Given the description of an element on the screen output the (x, y) to click on. 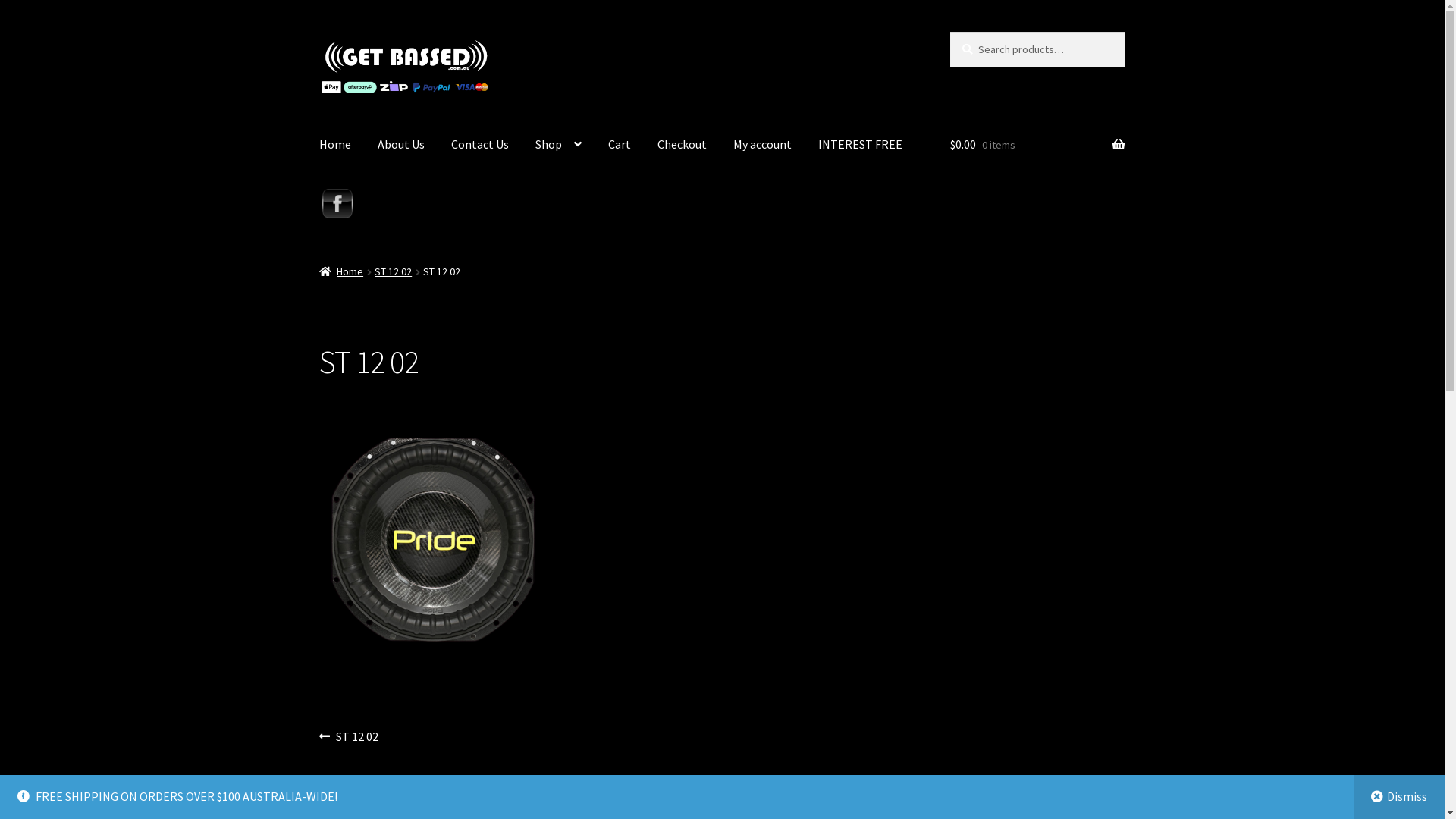
$0.00 0 items Element type: text (1037, 144)
My account Element type: text (762, 144)
Search Element type: text (949, 31)
Contact Us Element type: text (479, 144)
Checkout Element type: text (681, 144)
Home Element type: text (335, 144)
Cart Element type: text (619, 144)
Previous post:
ST 12 02 Element type: text (349, 736)
About Us Element type: text (400, 144)
Facebook Element type: hover (337, 203)
INTEREST FREE Element type: text (860, 144)
ST 12 02 Element type: text (392, 271)
Home Element type: text (341, 271)
Shop Element type: text (558, 144)
Skip to navigation Element type: text (318, 31)
